Given the description of an element on the screen output the (x, y) to click on. 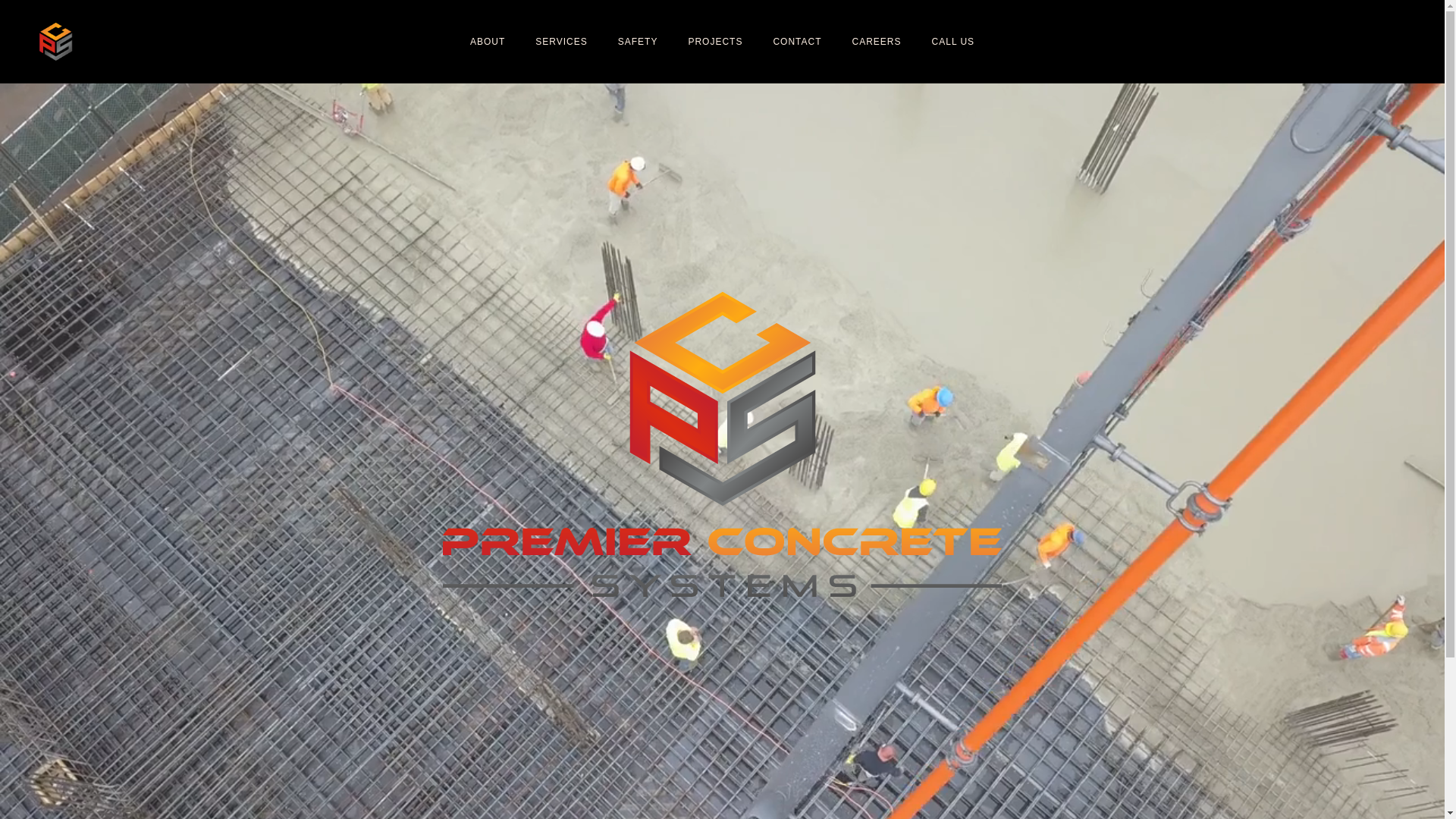
CALL US Element type: text (953, 41)
SAFETY Element type: text (637, 41)
PROJECTS Element type: text (714, 41)
CAREERS Element type: text (876, 41)
CONTACT Element type: text (796, 41)
SERVICES Element type: text (561, 41)
ABOUT Element type: text (487, 41)
